Given the description of an element on the screen output the (x, y) to click on. 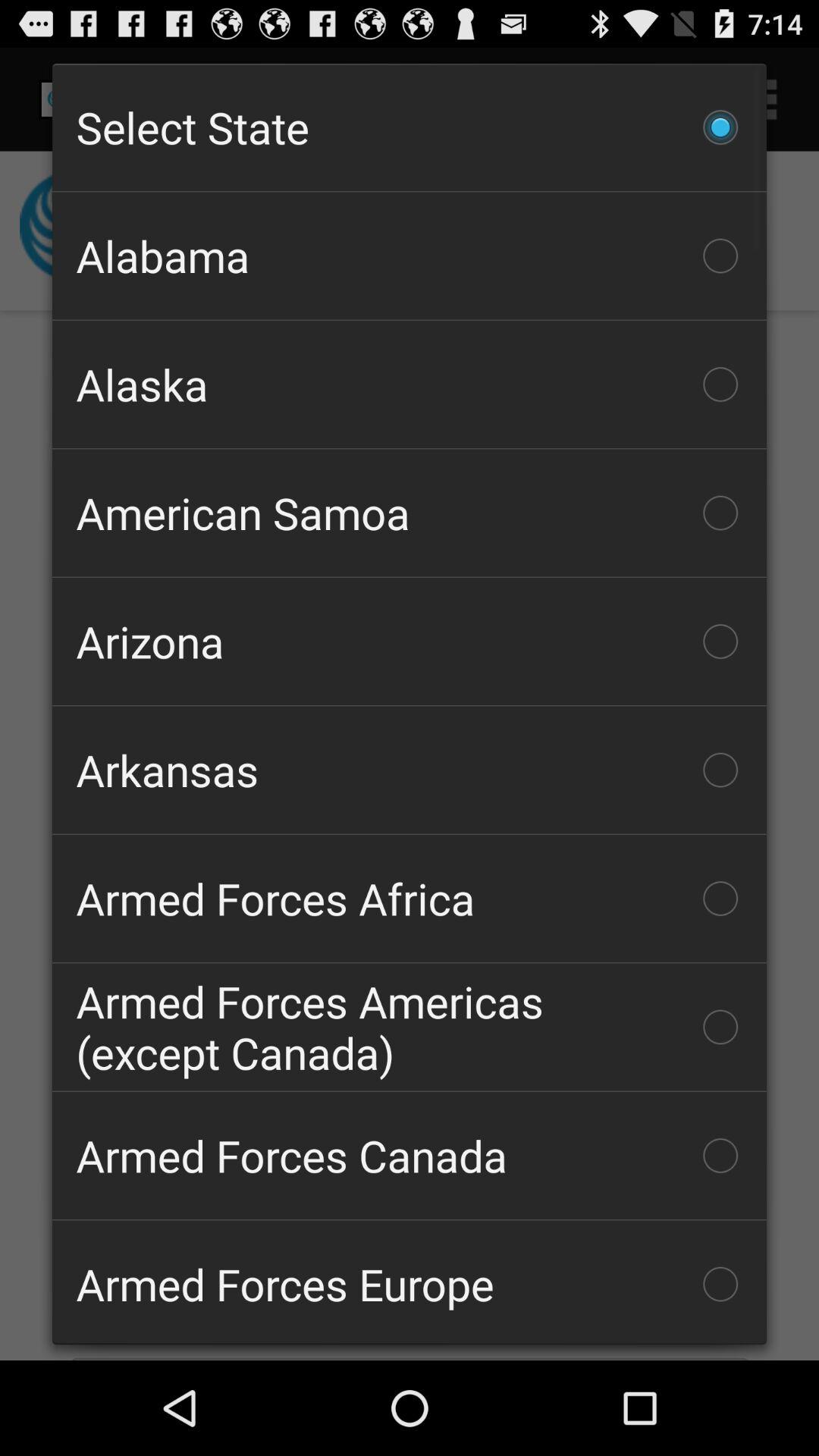
turn off the checkbox below arizona checkbox (409, 769)
